Given the description of an element on the screen output the (x, y) to click on. 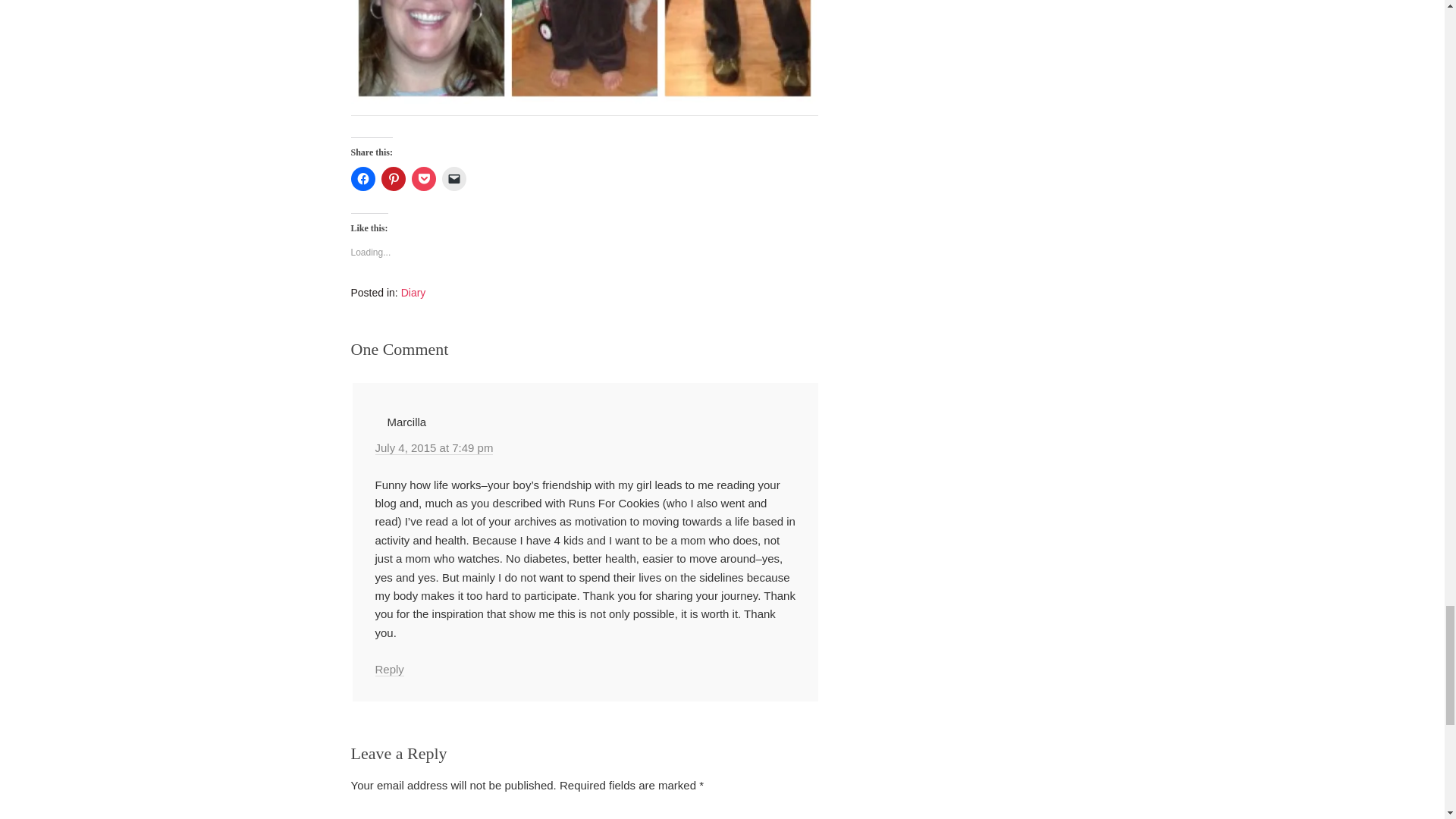
Click to share on Pinterest (392, 178)
Reply (388, 669)
Click to share on Pocket (422, 178)
Diary (413, 292)
July 4, 2015 at 7:49 pm (433, 448)
Click to email a link to a friend (453, 178)
Click to share on Facebook (362, 178)
Saturday, July 4, 2015, 7:49 pm (433, 448)
